Given the description of an element on the screen output the (x, y) to click on. 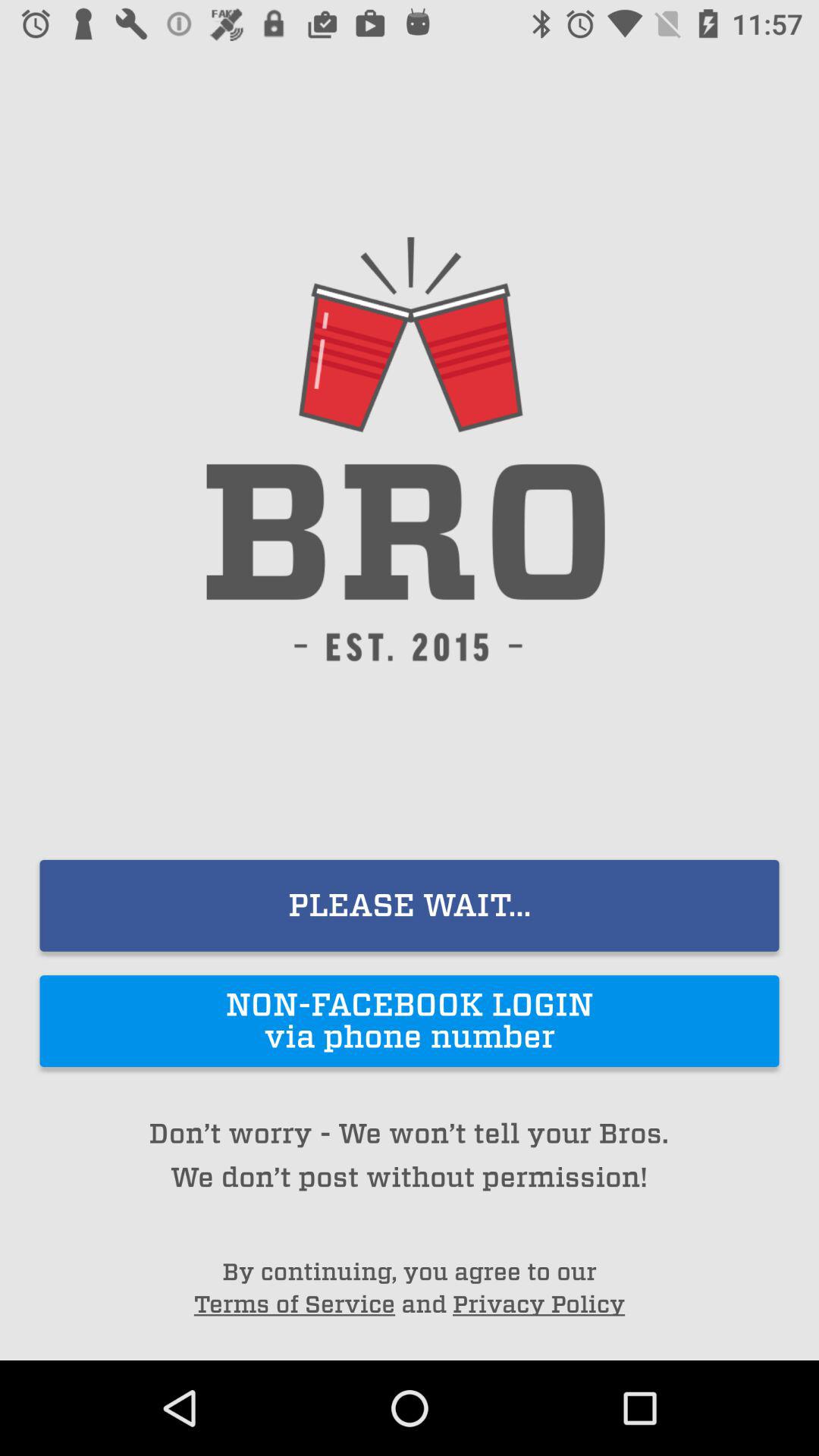
flip to terms of service item (294, 1304)
